Given the description of an element on the screen output the (x, y) to click on. 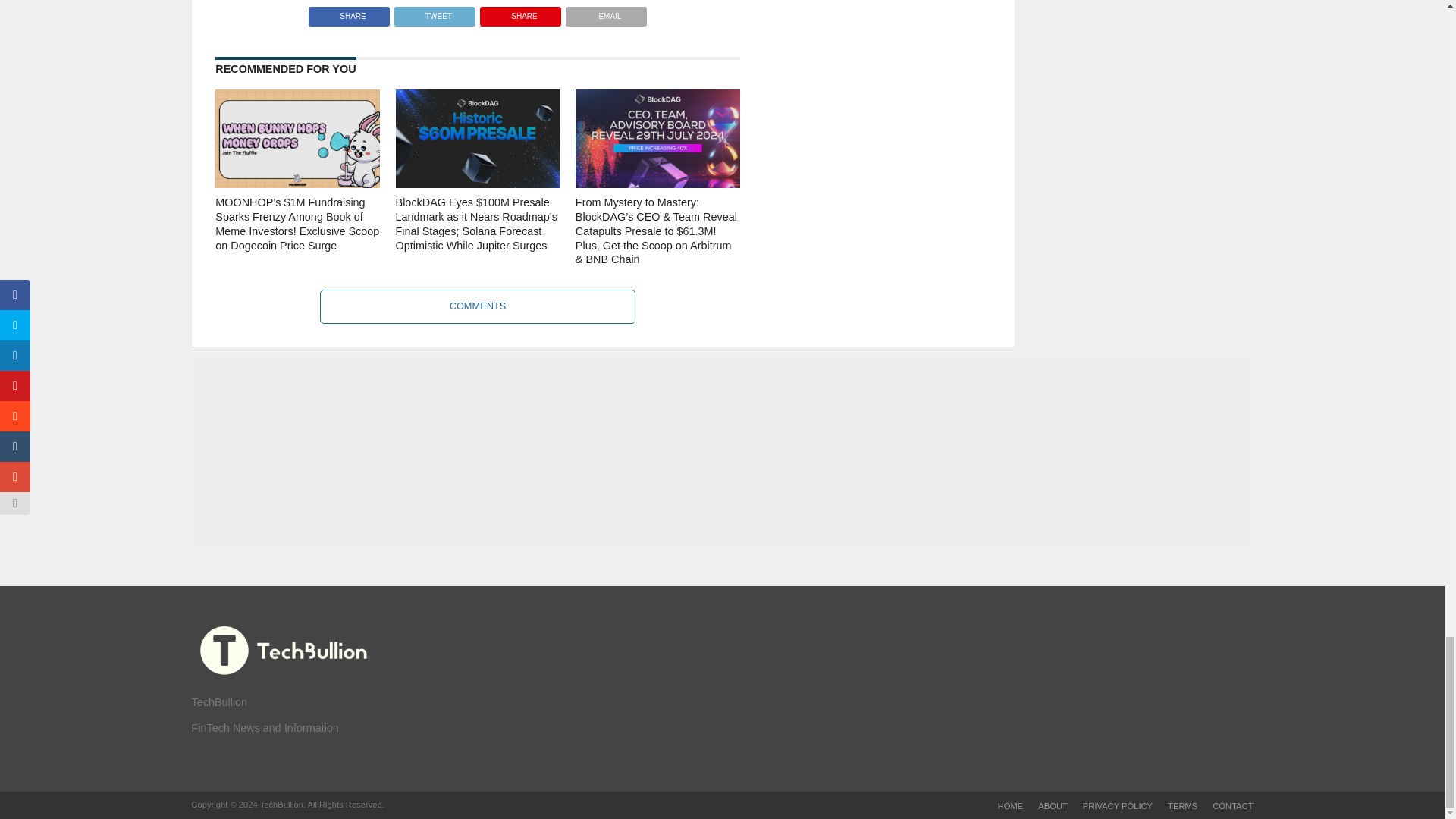
Tweet This Post (434, 11)
Pin This Post (520, 11)
Share on Facebook (349, 11)
